Given the description of an element on the screen output the (x, y) to click on. 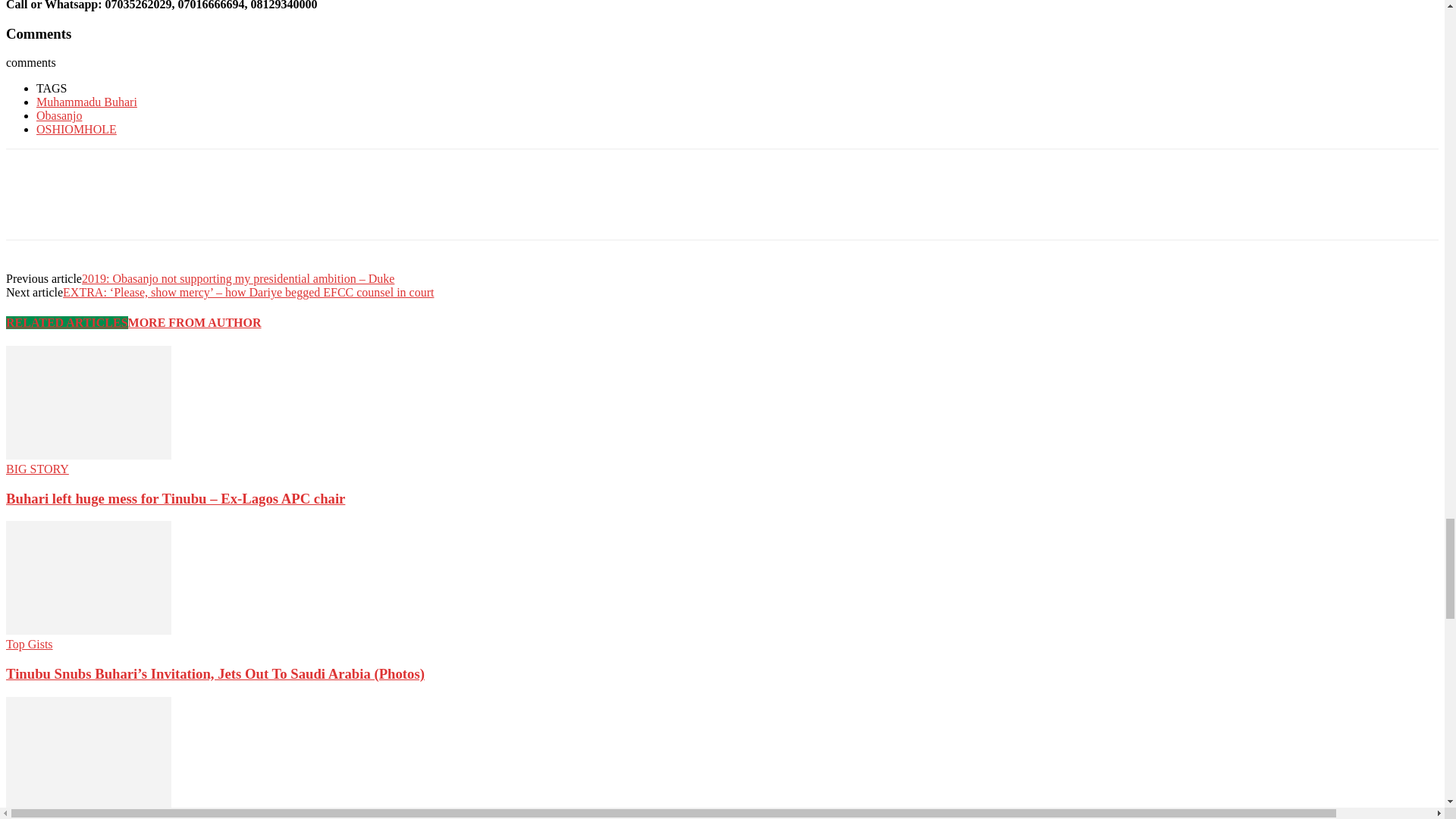
bottomFacebookLike (118, 172)
